Given the description of an element on the screen output the (x, y) to click on. 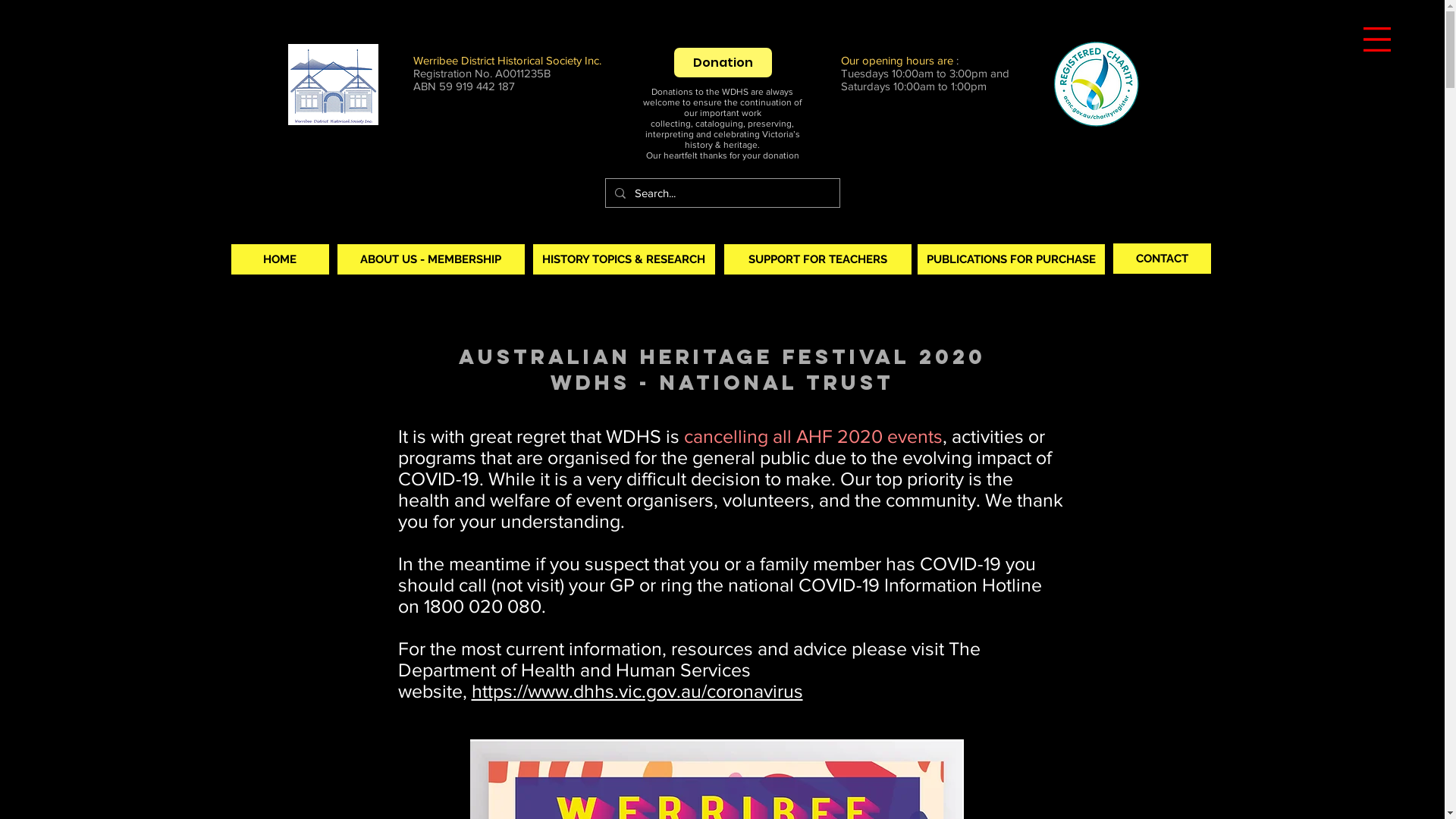
HISTORY TOPICS & RESEARCH Element type: text (623, 259)
https://www.dhhs.vic.gov.au/coronavirus Element type: text (637, 690)
PUBLICATIONS FOR PURCHASE Element type: text (1010, 259)
Donation Element type: text (722, 62)
ABOUT US - MEMBERSHIP Element type: text (430, 259)
HOME Element type: text (279, 259)
CONTACT Element type: text (1162, 258)
SUPPORT FOR TEACHERS Element type: text (816, 259)
